Given the description of an element on the screen output the (x, y) to click on. 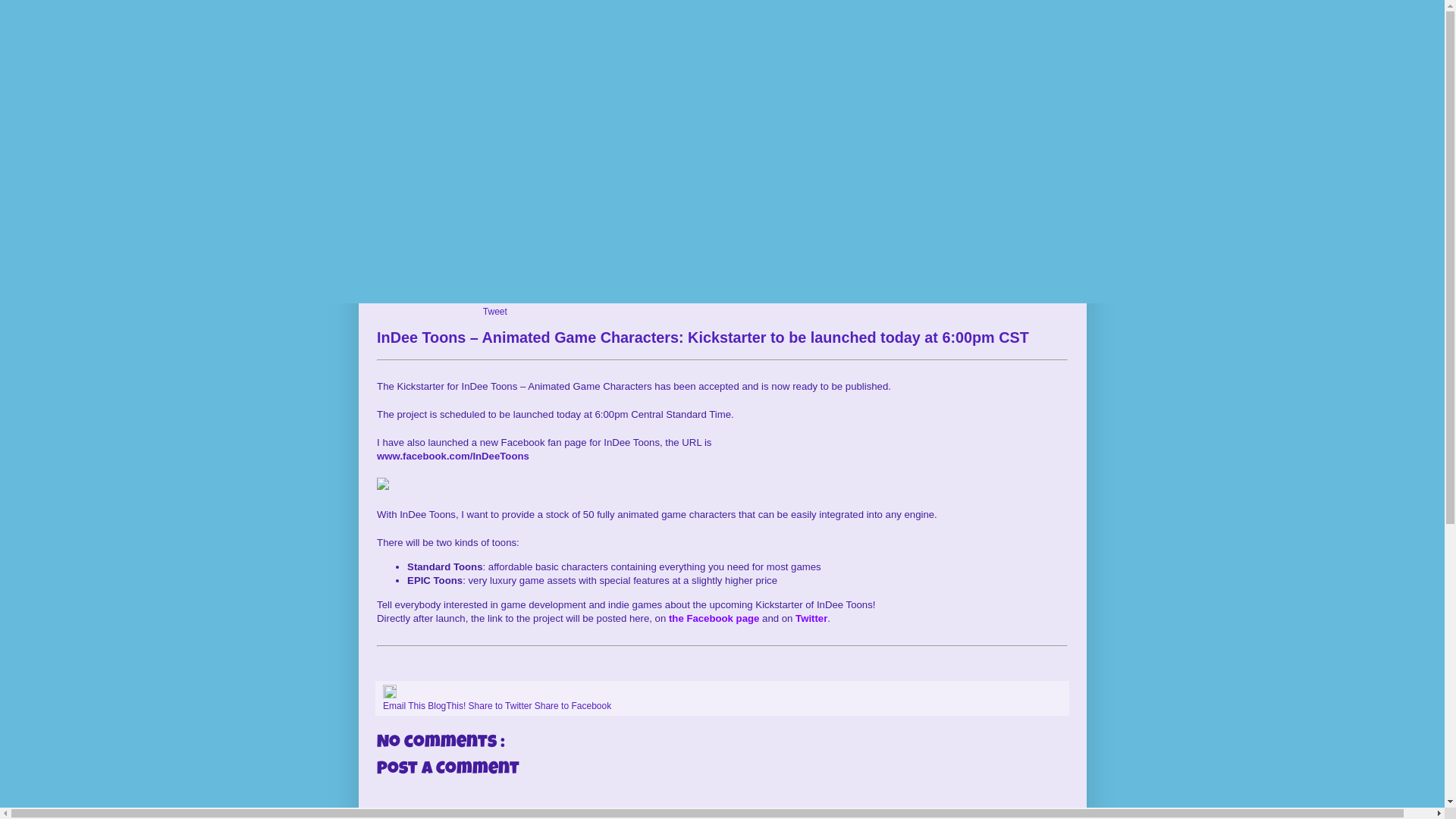
the Facebook page Element type: text (713, 618)
www.facebook.com/InDeeToons Element type: text (452, 455)
Tweet Element type: text (495, 311)
Twitter Element type: text (811, 618)
News Element type: text (437, 215)
Tutorials Element type: text (722, 215)
Edit Post Element type: hover (389, 695)
Email This Element type: text (404, 705)
BlogThis! Element type: text (447, 705)
Sprite DLight Element type: text (579, 215)
Share to Twitter Element type: text (501, 705)
Portfolio Element type: text (864, 215)
Contact Element type: text (1006, 215)
Share to Facebook Element type: text (572, 705)
